Given the description of an element on the screen output the (x, y) to click on. 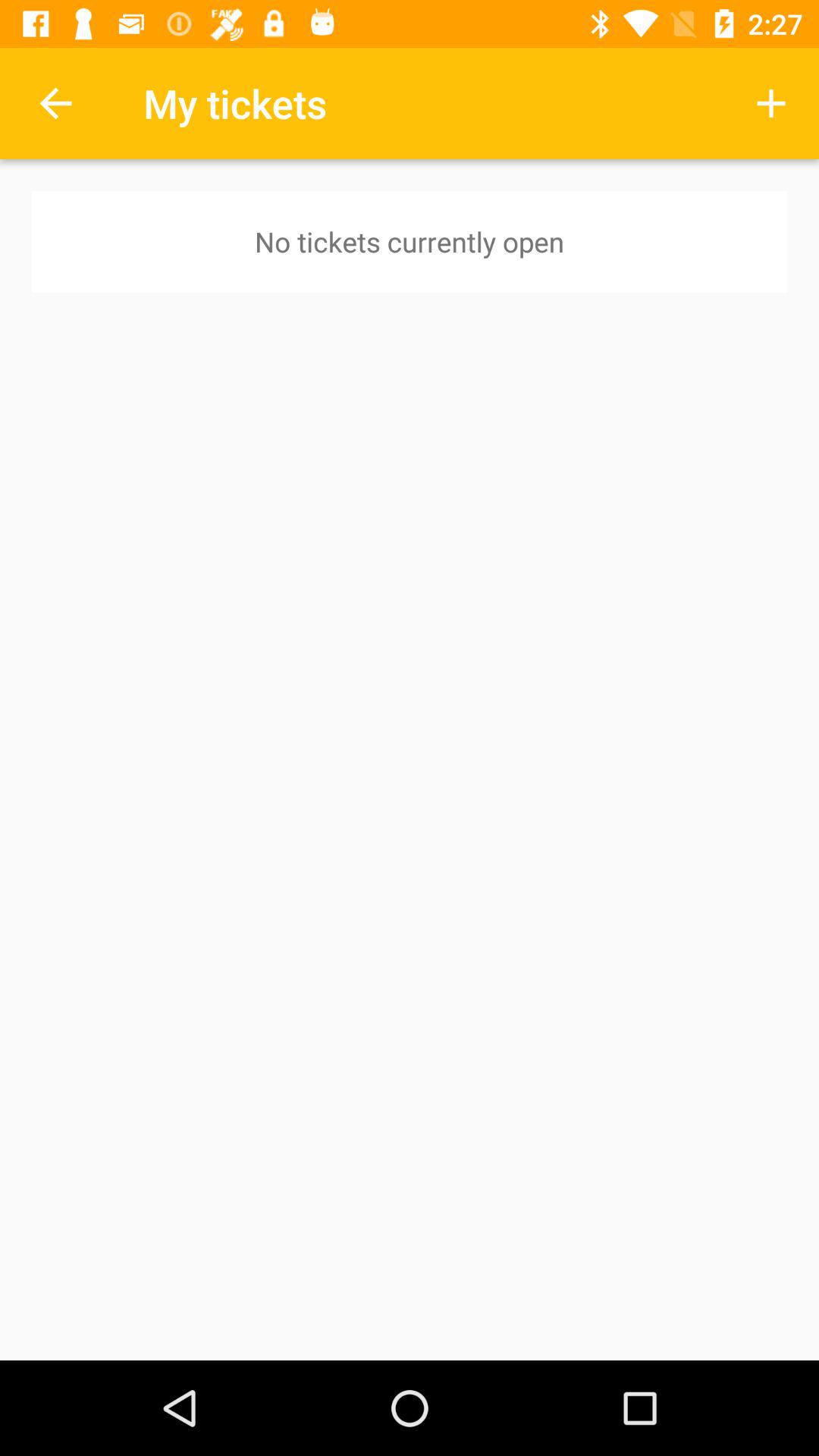
launch item above no tickets currently icon (55, 103)
